Given the description of an element on the screen output the (x, y) to click on. 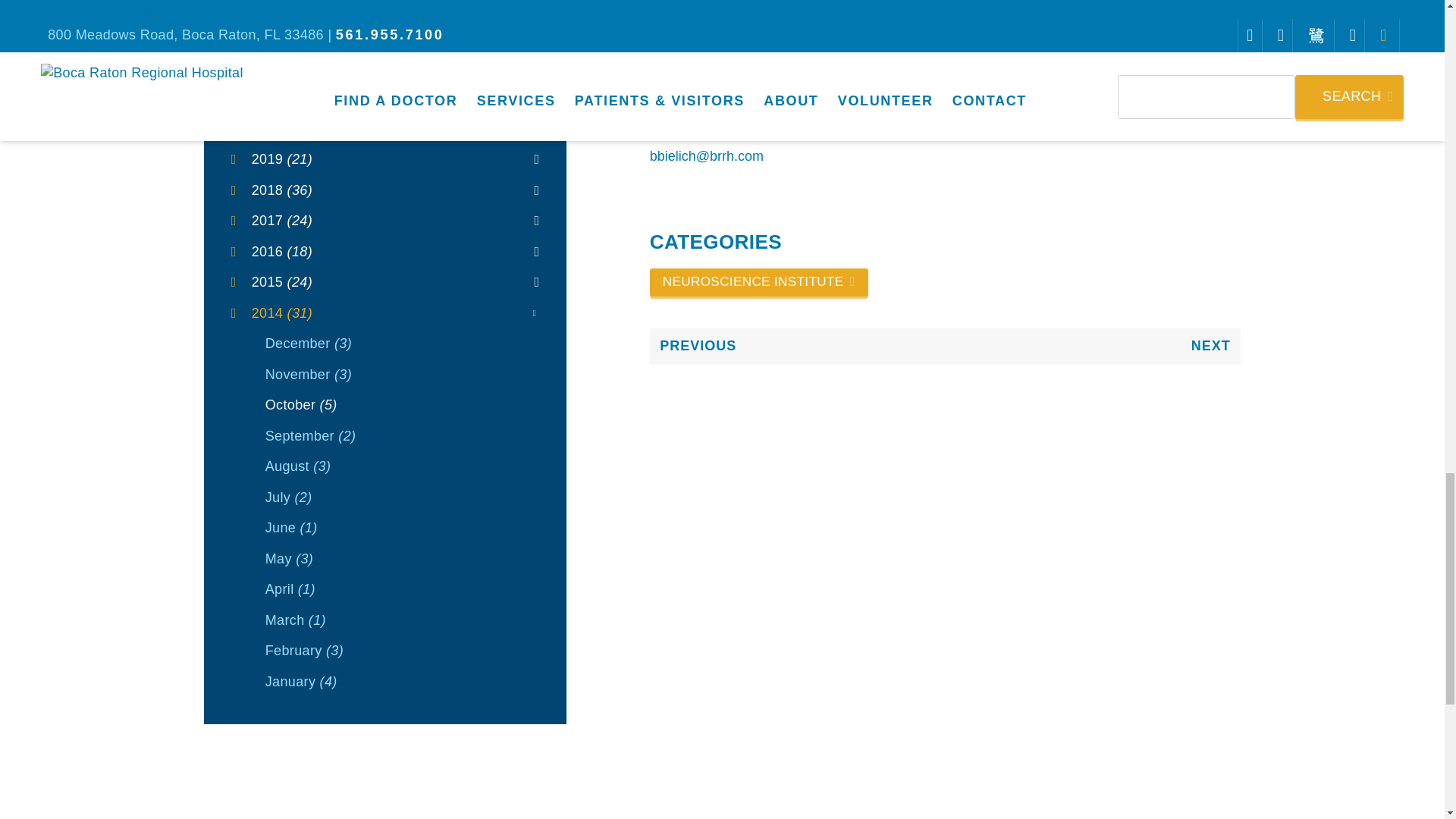
Blog Category (758, 282)
